Given the description of an element on the screen output the (x, y) to click on. 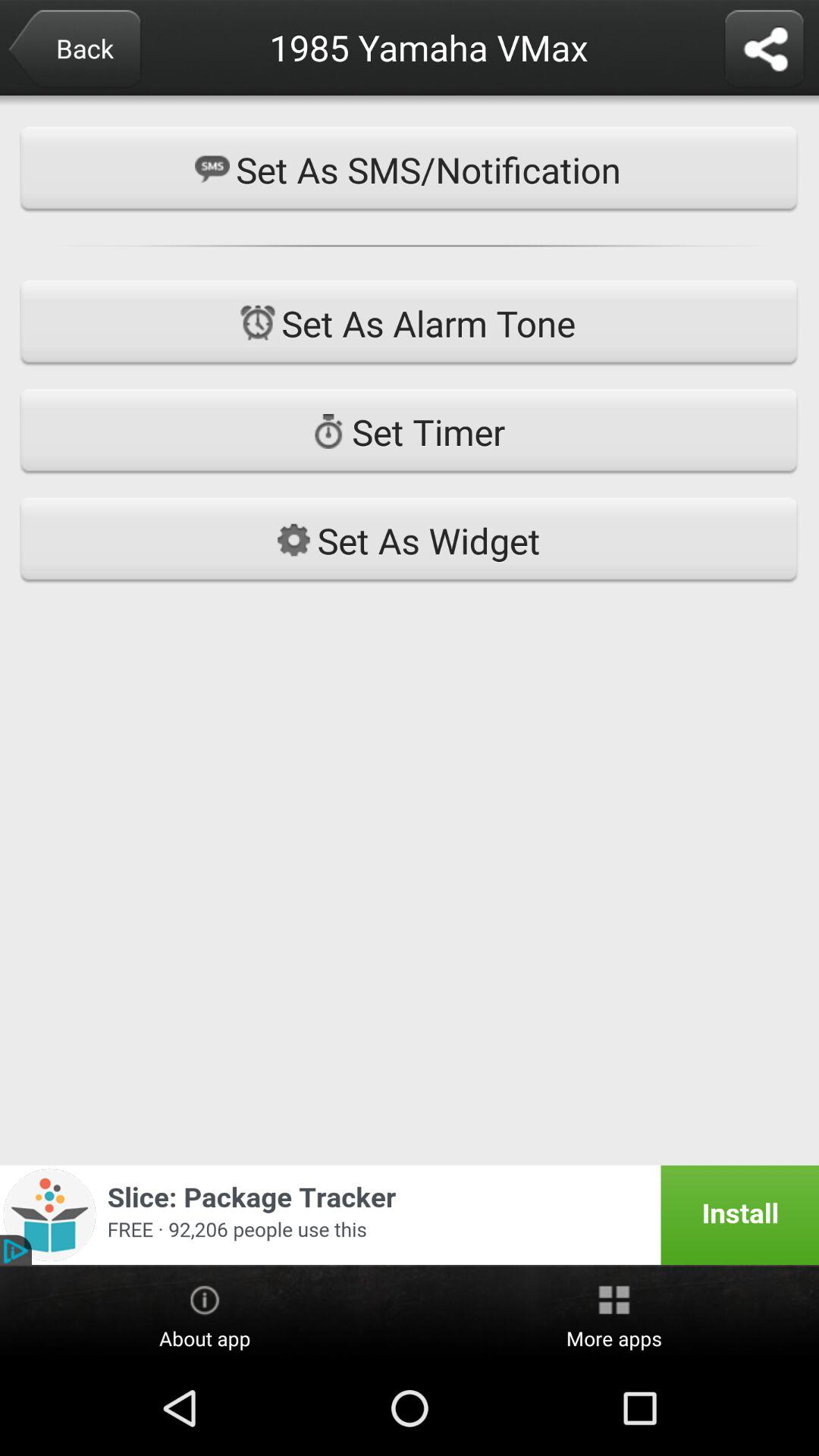
tap the item to the left of the 1985 yamaha vmax app (73, 50)
